Given the description of an element on the screen output the (x, y) to click on. 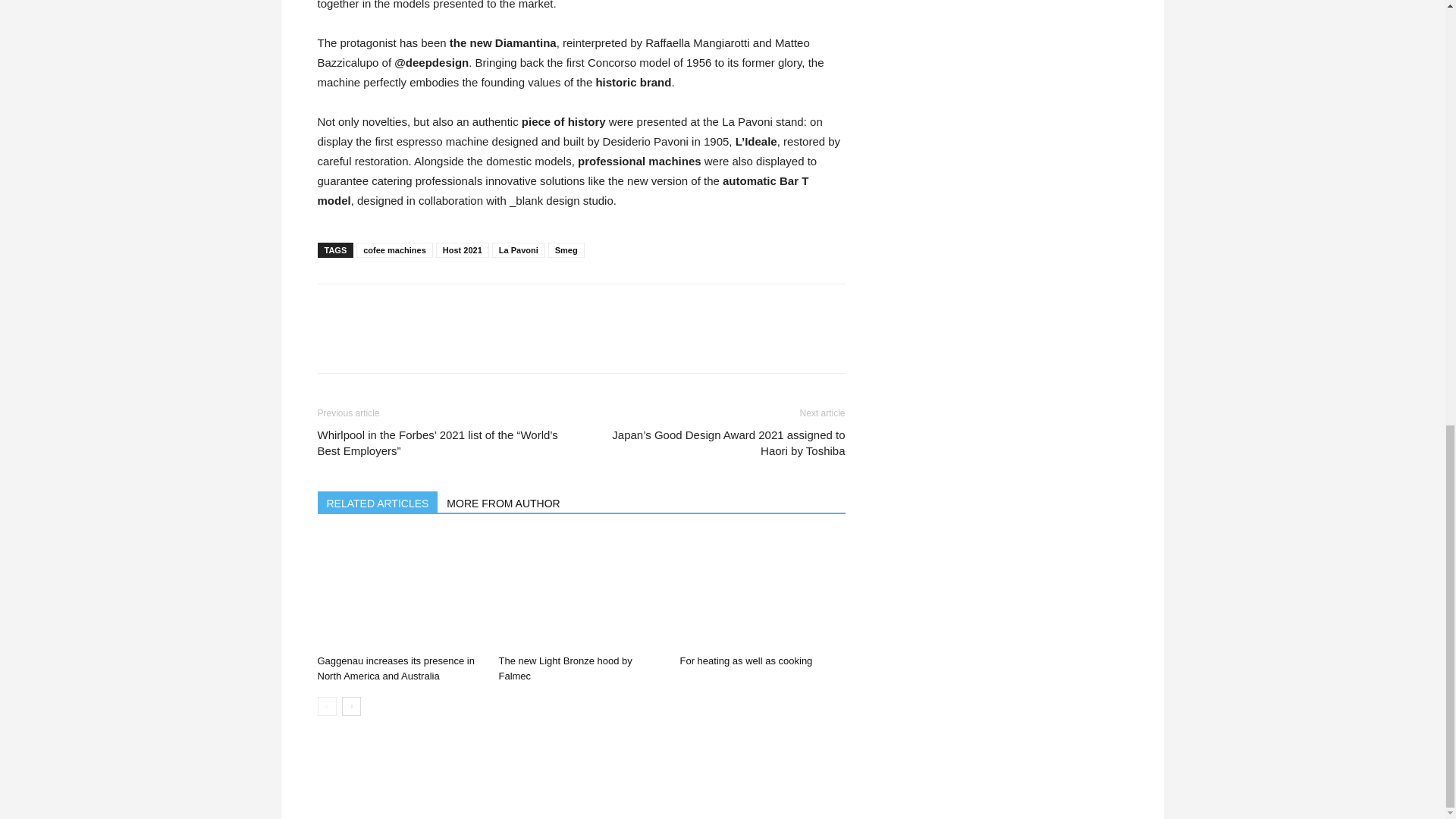
cofee machines (394, 249)
Host 2021 (462, 249)
The new Light Bronze hood by Falmec (564, 668)
La Pavoni (518, 249)
For heating as well as cooking (745, 660)
Smeg (566, 249)
The new Light Bronze hood by Falmec (580, 591)
For heating as well as cooking (761, 591)
